Given the description of an element on the screen output the (x, y) to click on. 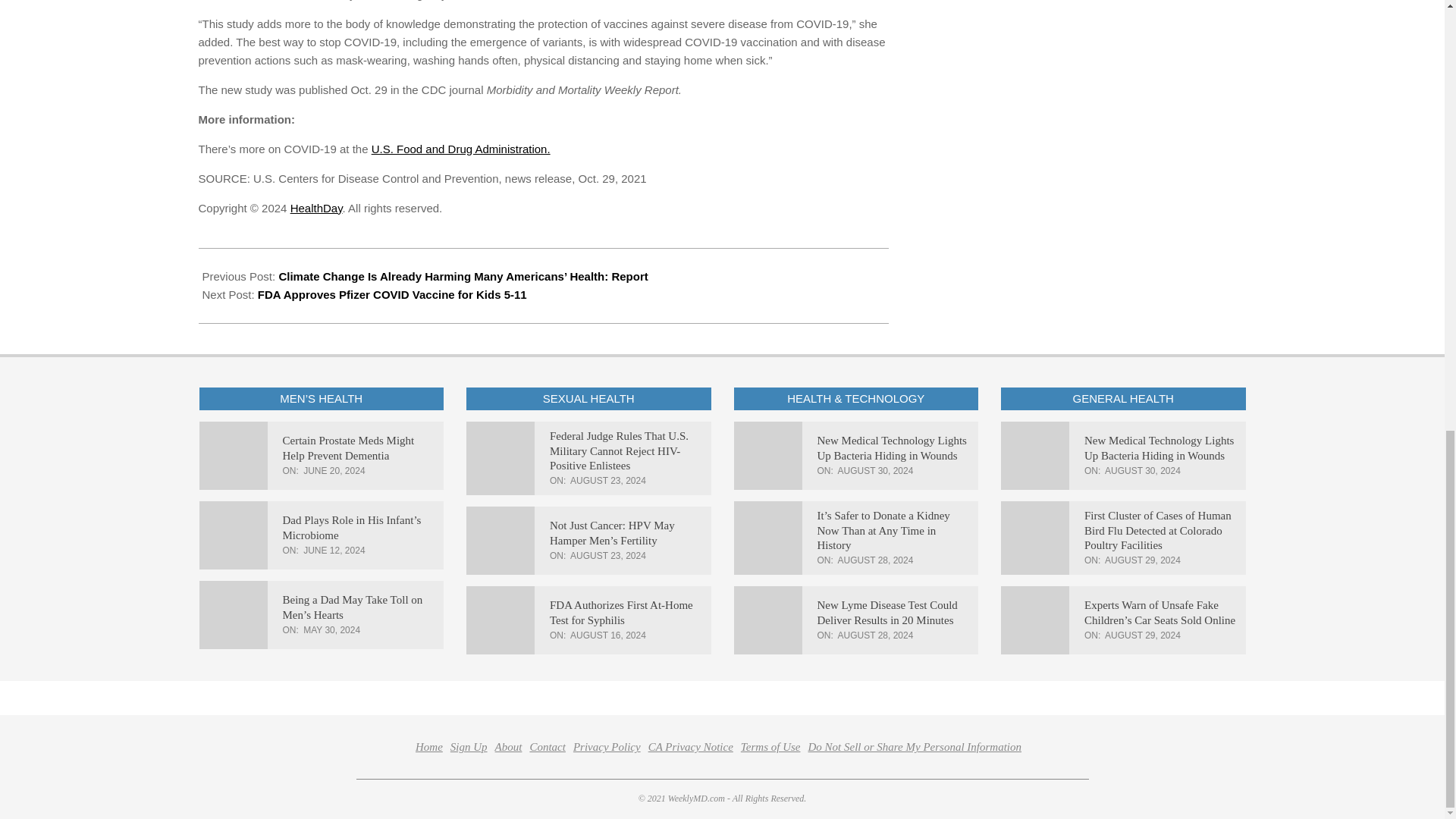
Friday, August 30, 2024, 10:00 am (876, 470)
Thursday, August 29, 2024, 5:00 pm (1142, 560)
Wednesday, August 28, 2024, 3:00 pm (876, 560)
Friday, August 16, 2024, 4:26 pm (608, 634)
Thursday, June 20, 2024, 9:49 am (333, 470)
Friday, August 23, 2024, 9:39 am (608, 555)
Friday, August 30, 2024, 10:00 am (1142, 470)
Wednesday, August 28, 2024, 9:58 am (876, 634)
Thursday, May 30, 2024, 10:11 am (330, 629)
Wednesday, June 12, 2024, 3:00 pm (333, 549)
